Given the description of an element on the screen output the (x, y) to click on. 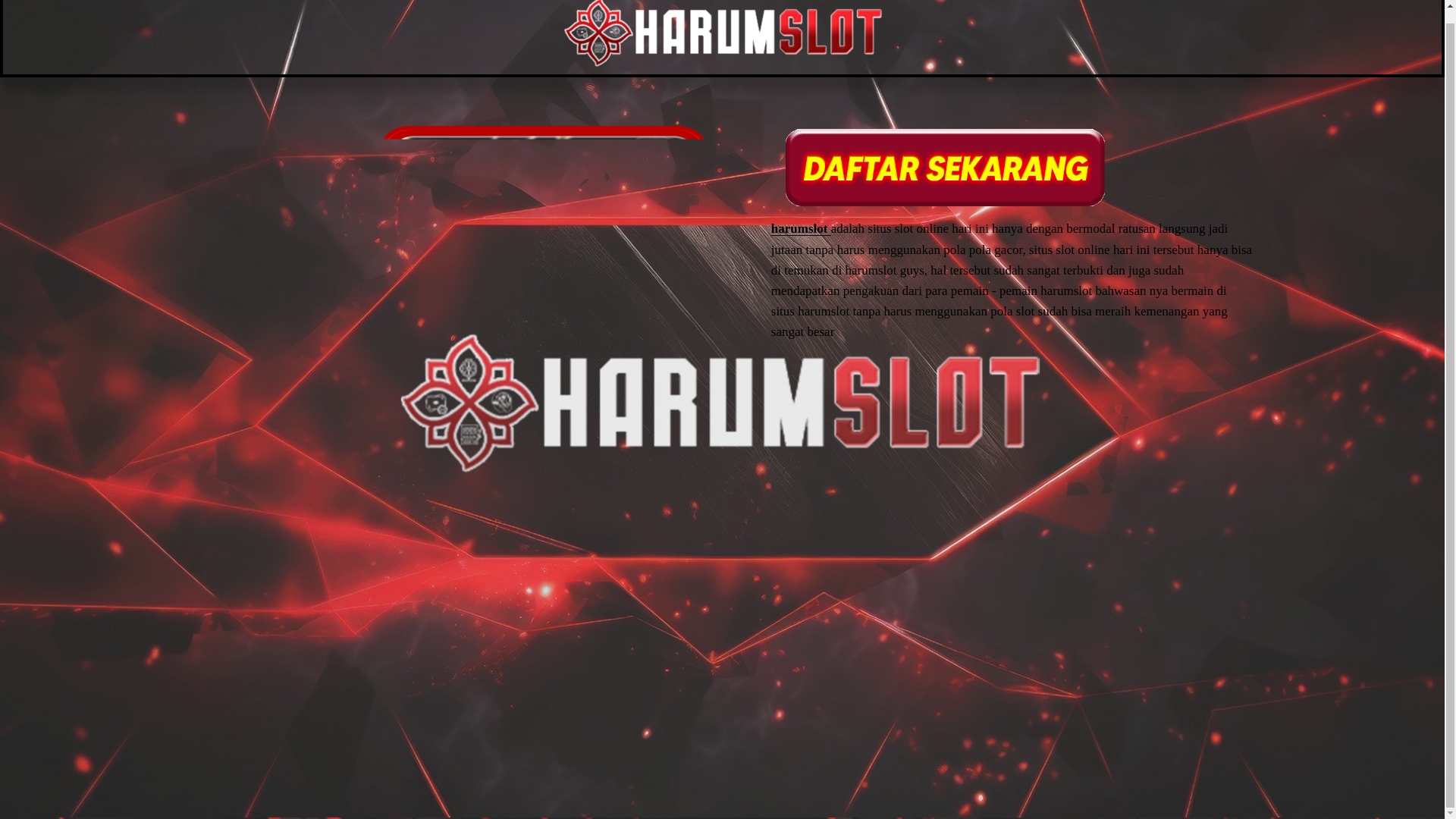
harumslot (801, 228)
